Given the description of an element on the screen output the (x, y) to click on. 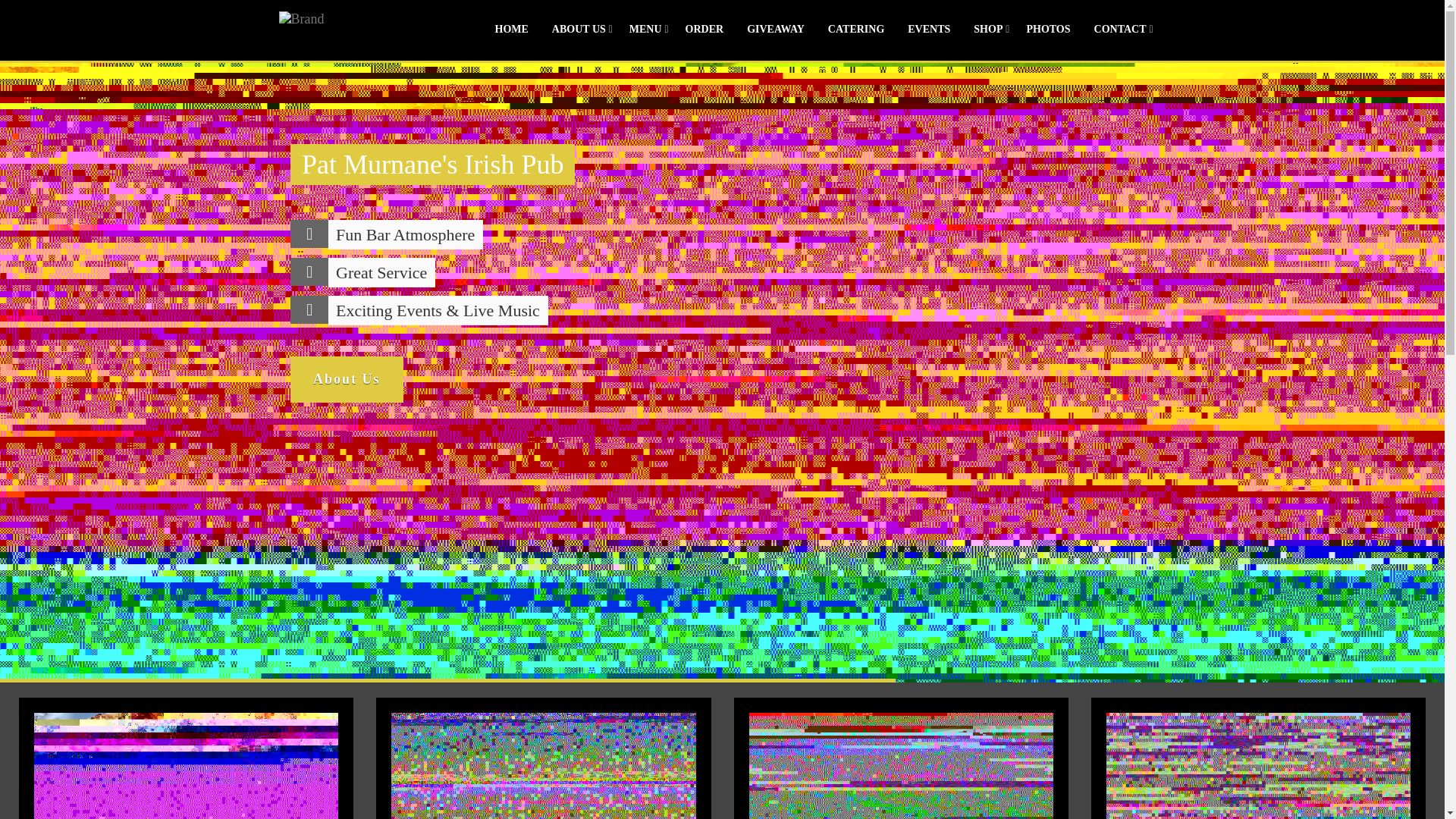
HOME (511, 29)
MENU (645, 29)
SHOP (987, 29)
EVENTS (928, 29)
ABOUT US (578, 29)
PHOTOS (1047, 29)
CATERING (855, 29)
About Us (345, 378)
GIVEAWAY (775, 29)
ORDER (704, 29)
CONTACT (1120, 29)
